Given the description of an element on the screen output the (x, y) to click on. 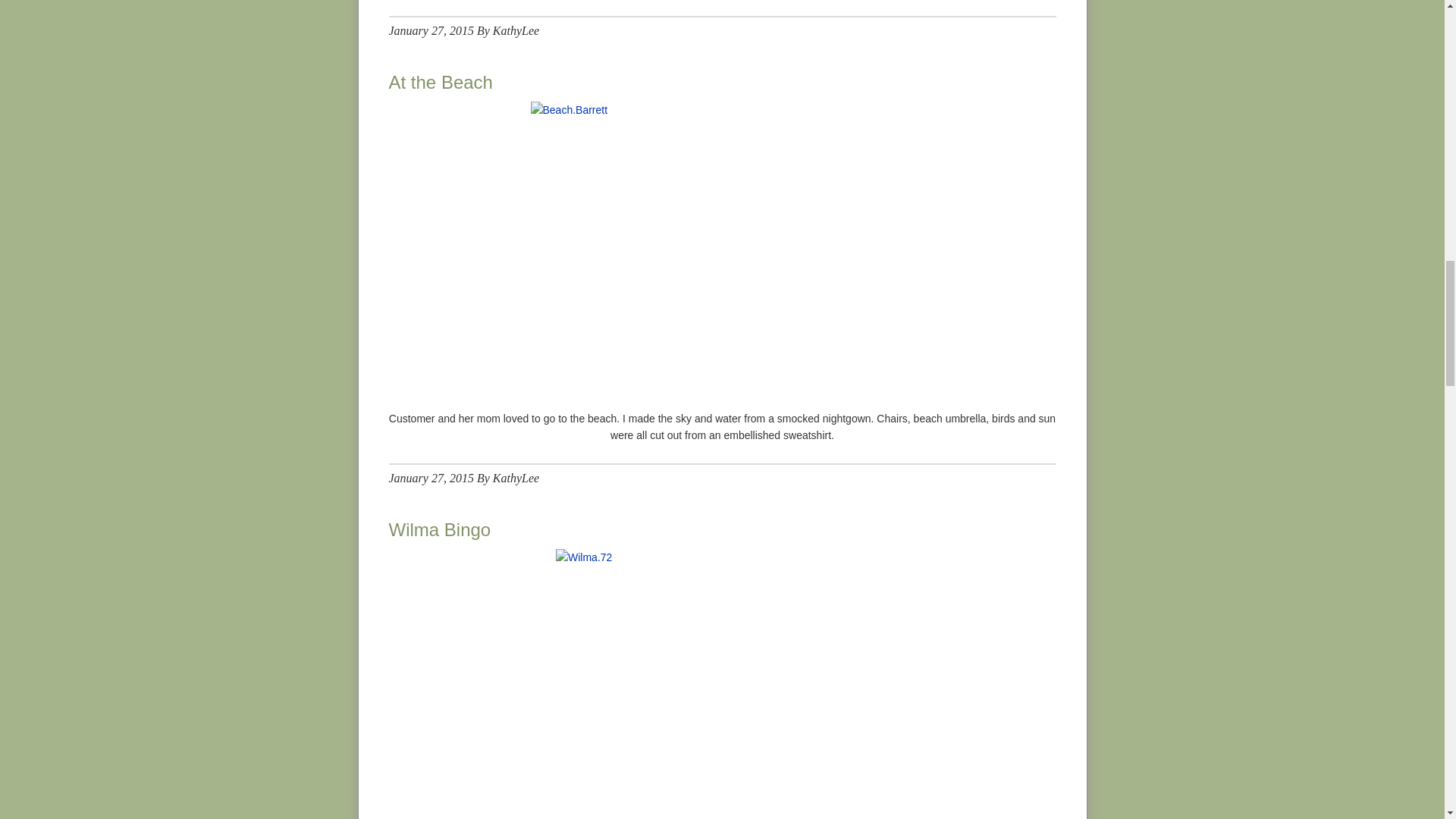
Wilma Bingo (439, 529)
At the Beach (440, 82)
